Given the description of an element on the screen output the (x, y) to click on. 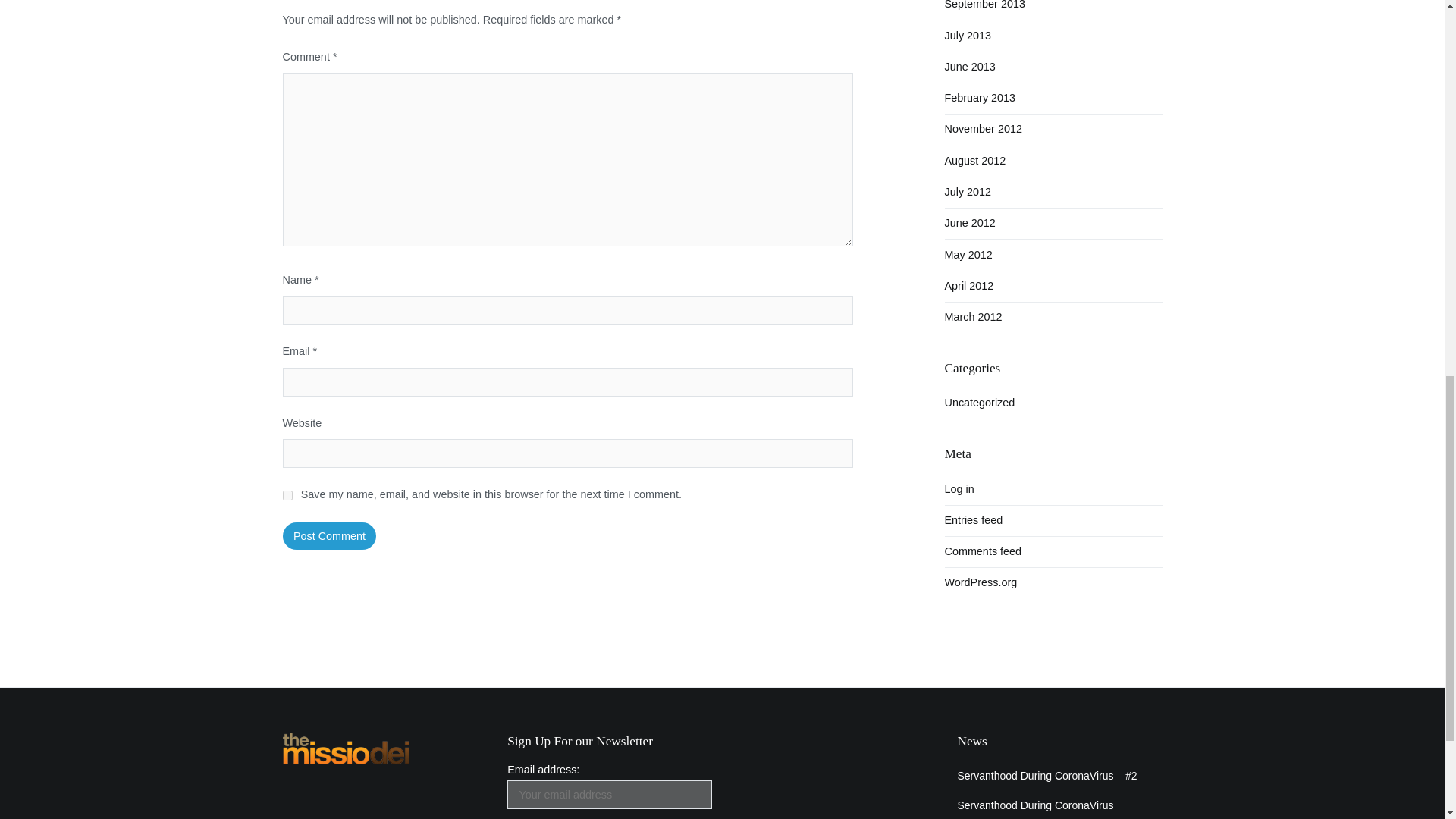
yes (287, 495)
Post Comment (328, 535)
Post Comment (328, 535)
